Given the description of an element on the screen output the (x, y) to click on. 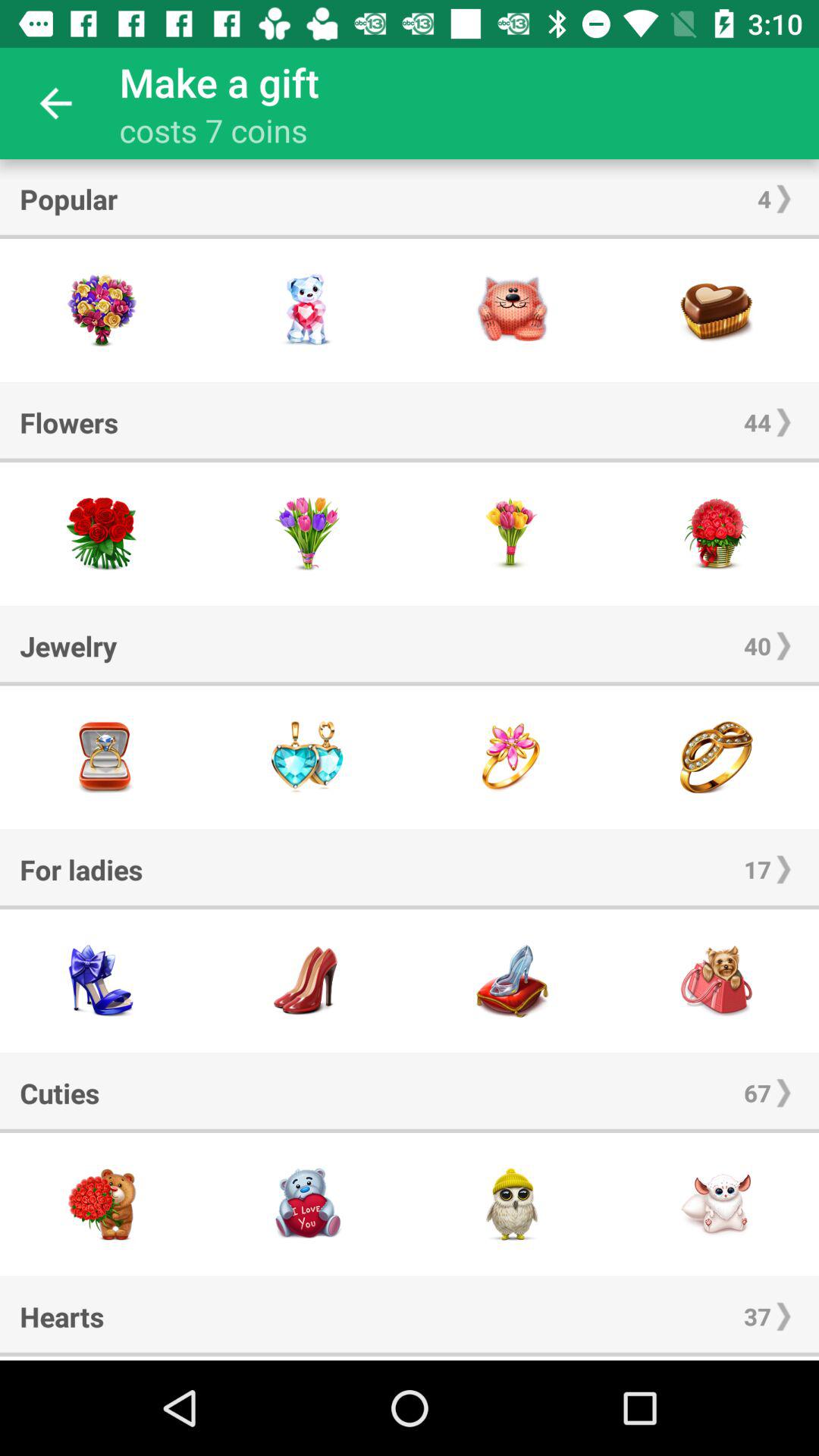
select the gift option (511, 533)
